Given the description of an element on the screen output the (x, y) to click on. 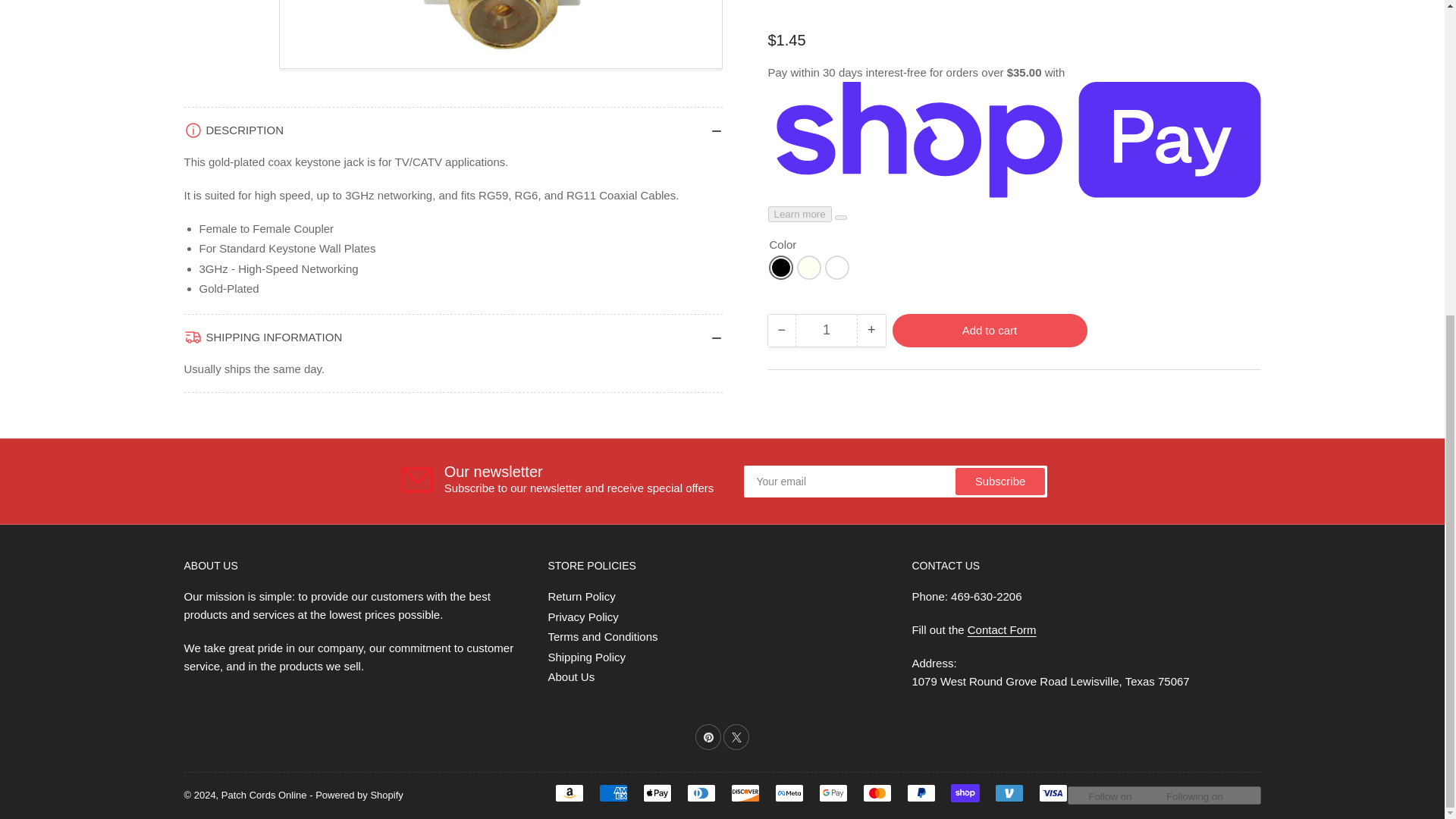
Contact (1002, 629)
Discover (745, 792)
Load image 1 in gallery view (223, 34)
American Express (612, 792)
Diners Club (701, 792)
1 (825, 132)
Apple Pay (657, 792)
Amazon (568, 792)
